Given the description of an element on the screen output the (x, y) to click on. 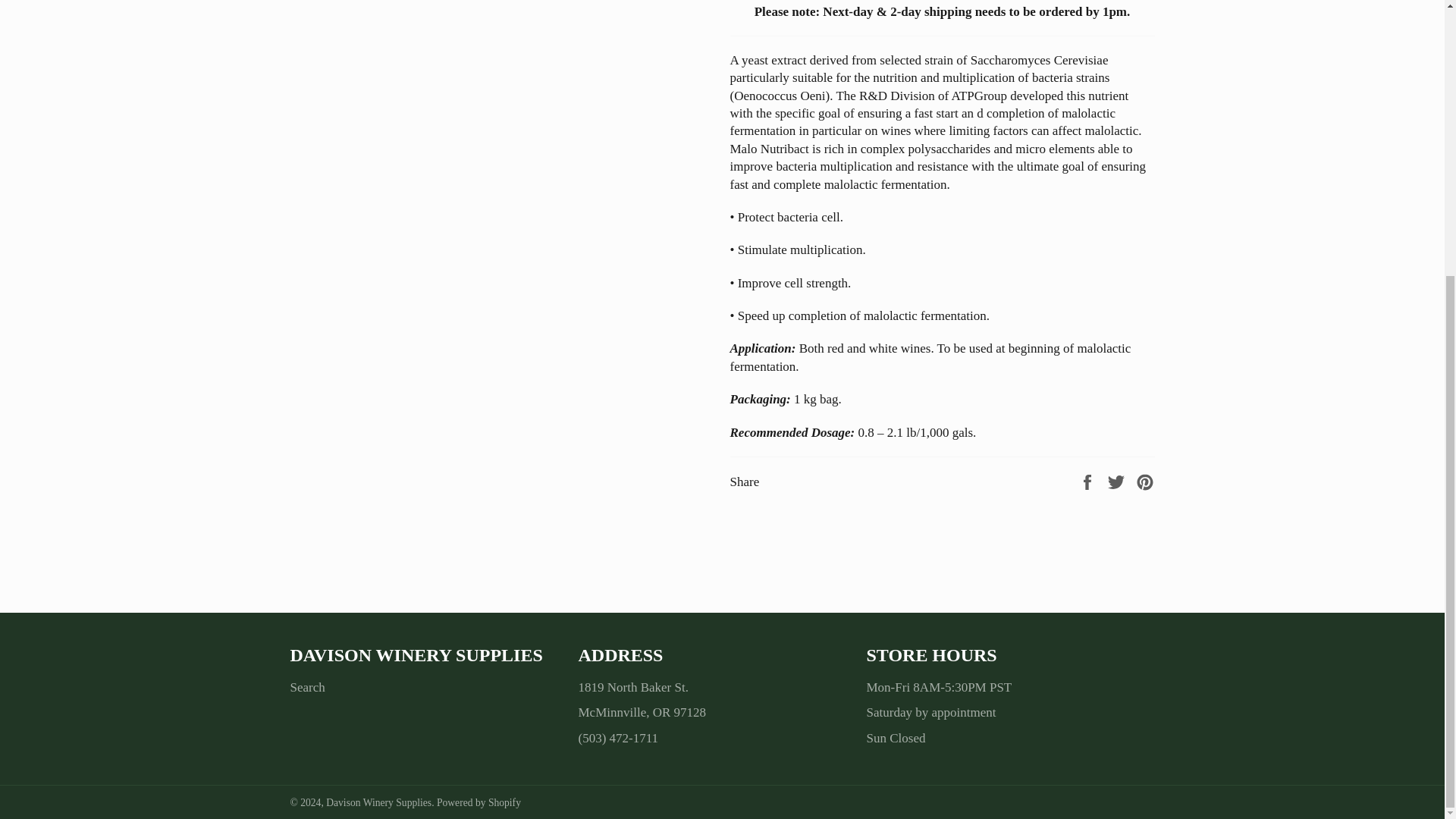
Share on Facebook (1088, 481)
Pin on Pinterest (1144, 481)
Tweet on Twitter (1117, 481)
